Given the description of an element on the screen output the (x, y) to click on. 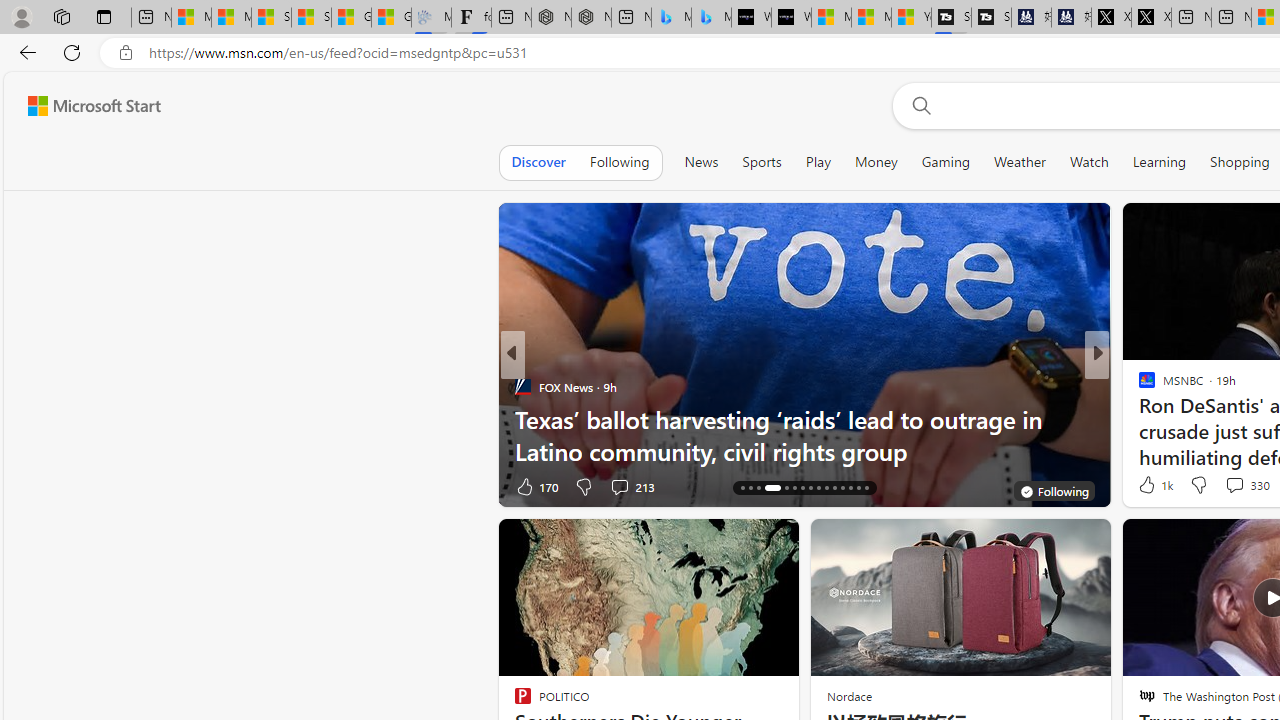
View comments 330 Comment (1246, 484)
The Atlantic (1138, 386)
